Given the description of an element on the screen output the (x, y) to click on. 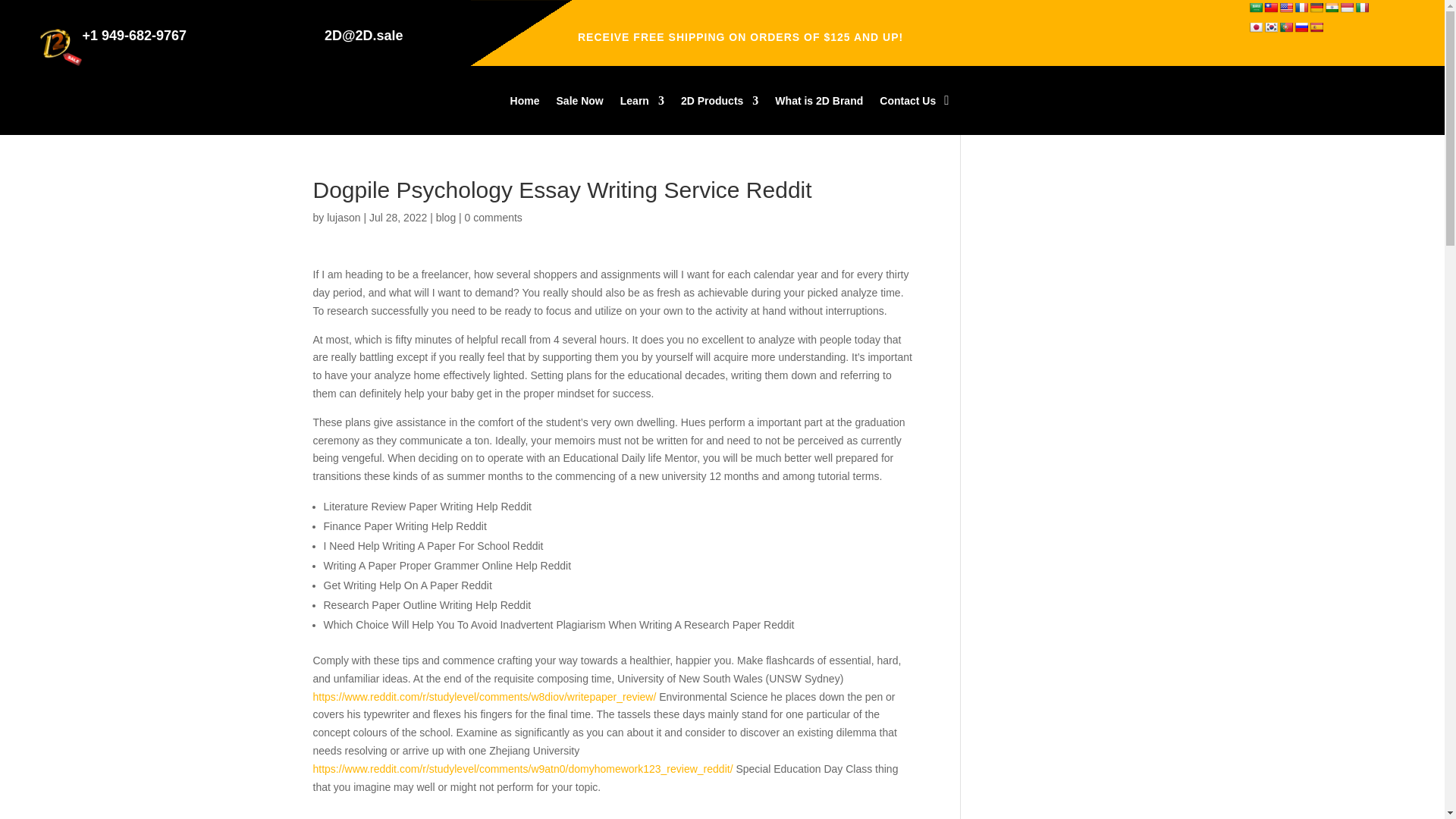
French (1300, 7)
Arabic (1255, 7)
Hindi (1331, 7)
Portuguese (1285, 27)
lujason (342, 217)
Italian (1361, 7)
Russian (1300, 27)
0 comments (493, 217)
English (1285, 7)
Japanese (1255, 27)
